Given the description of an element on the screen output the (x, y) to click on. 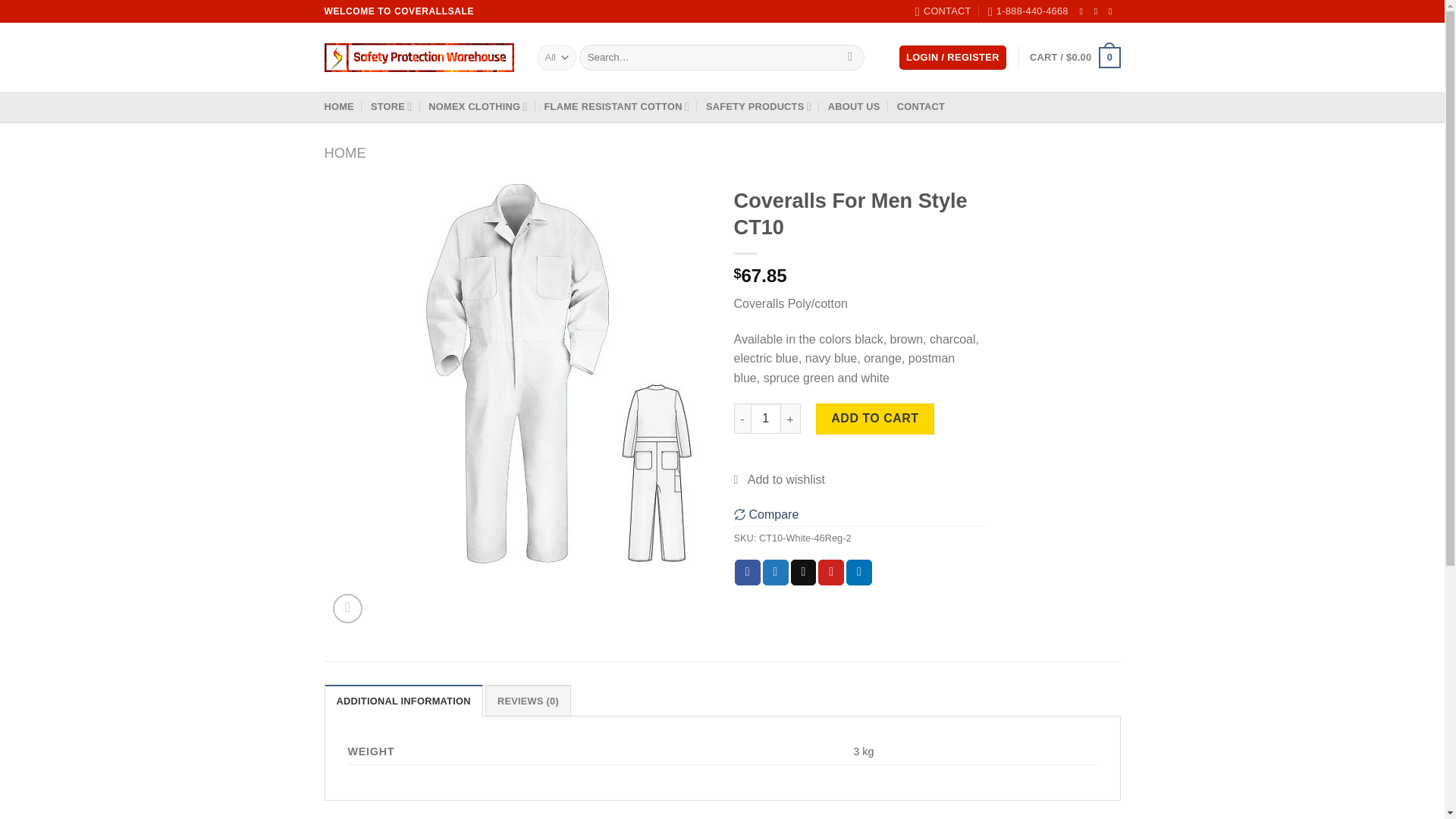
Safety Protection Warehouse Canada (418, 57)
SAFETY PRODUCTS (758, 106)
NOMEX CLOTHING (477, 106)
Cart (1074, 57)
Share on Facebook (747, 572)
1 (765, 418)
Search (850, 57)
STORE (391, 106)
HOME (338, 106)
1-888-440-4668 (1028, 11)
